Given the description of an element on the screen output the (x, y) to click on. 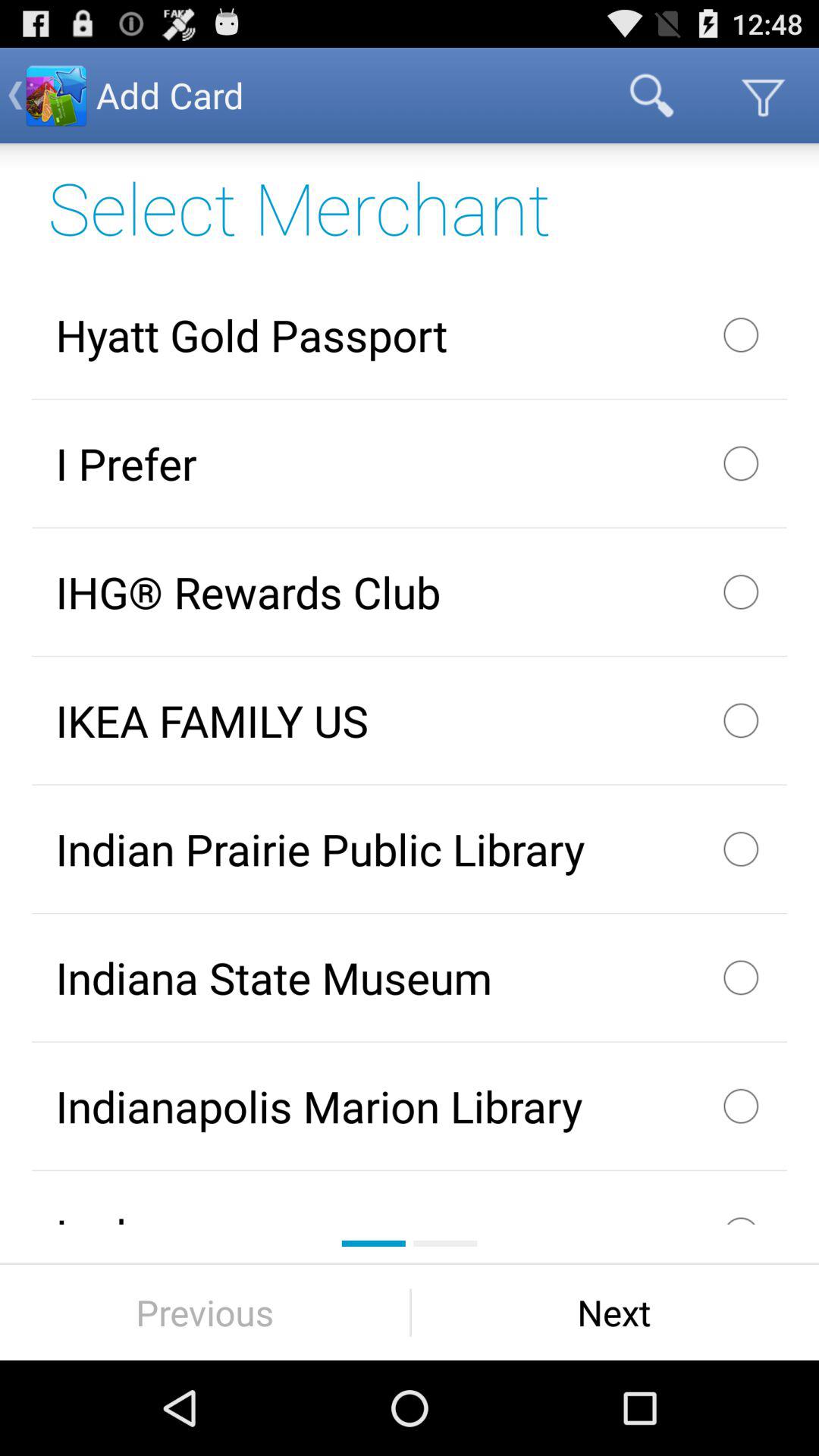
press ingles icon (409, 1197)
